Given the description of an element on the screen output the (x, y) to click on. 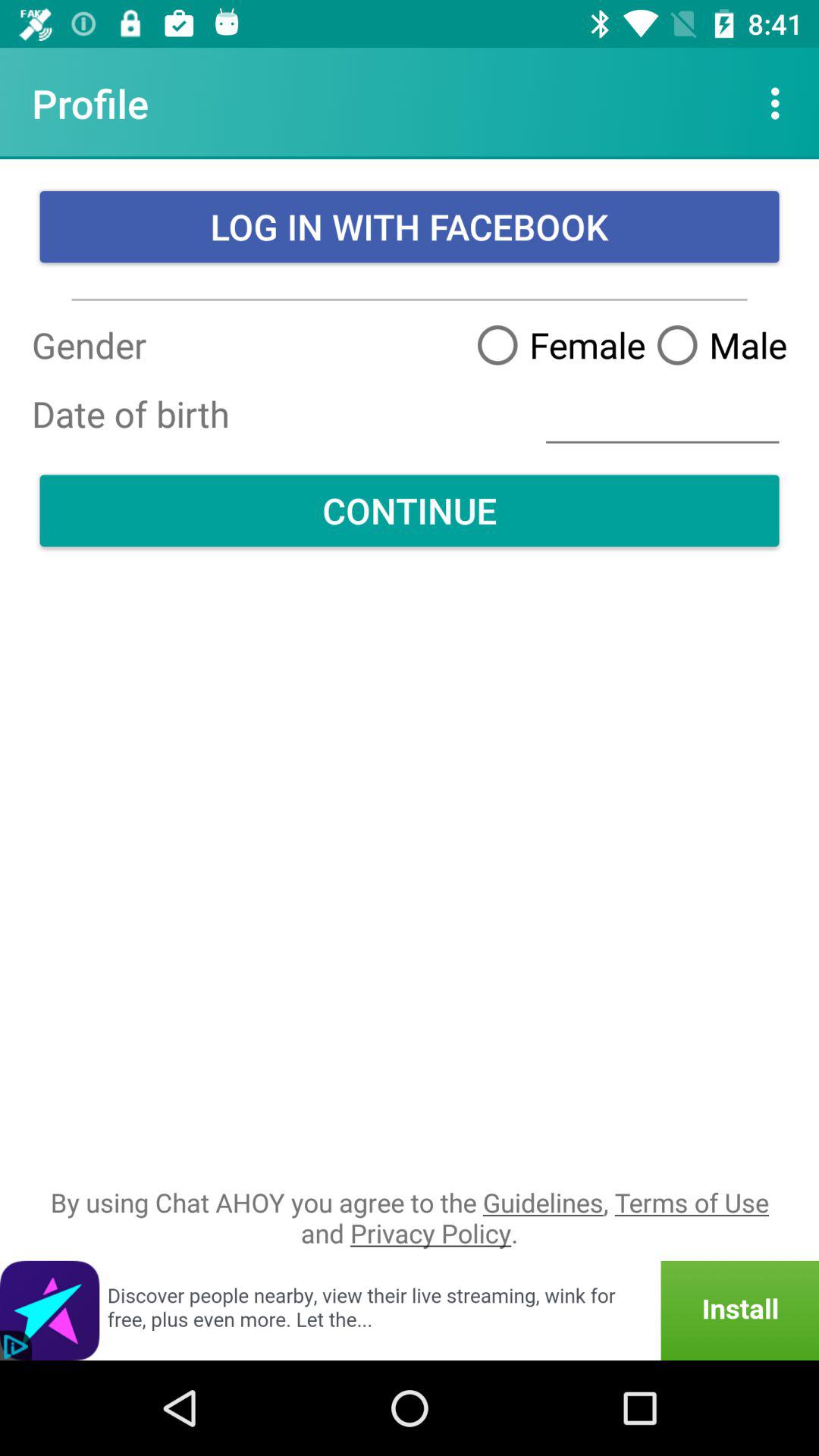
choose the female item (555, 344)
